Given the description of an element on the screen output the (x, y) to click on. 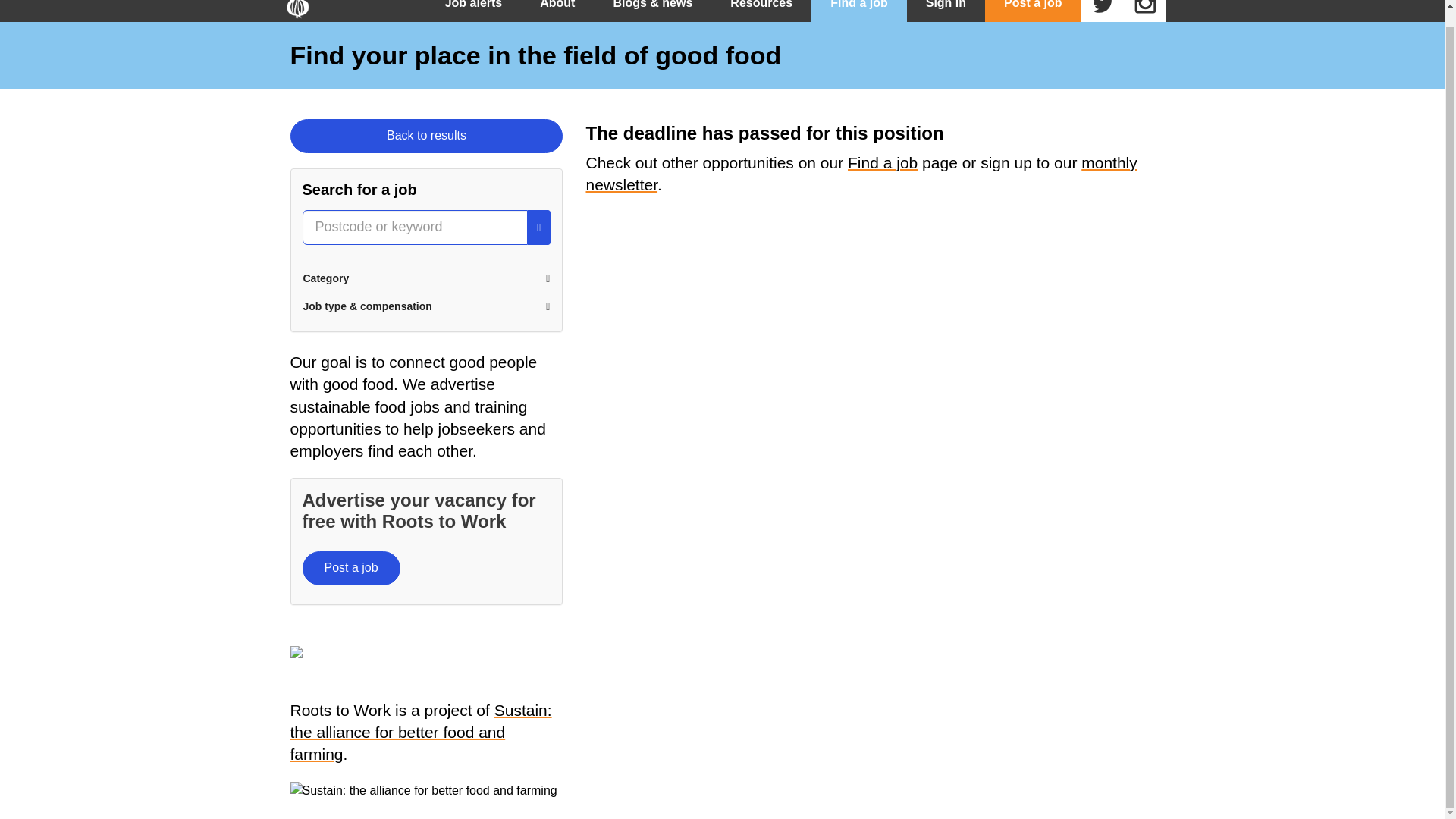
monthly newsletter (861, 173)
Sign in (946, 11)
Sustain: the alliance for better food and farming (420, 732)
Sustain: the alliance for better food and farming (422, 791)
About (557, 11)
Category (426, 278)
Post a job (1032, 11)
Find a job (882, 162)
Find a job (858, 11)
Resources (760, 11)
Job alerts (473, 11)
Post a job (349, 568)
Back to results (425, 135)
